Given the description of an element on the screen output the (x, y) to click on. 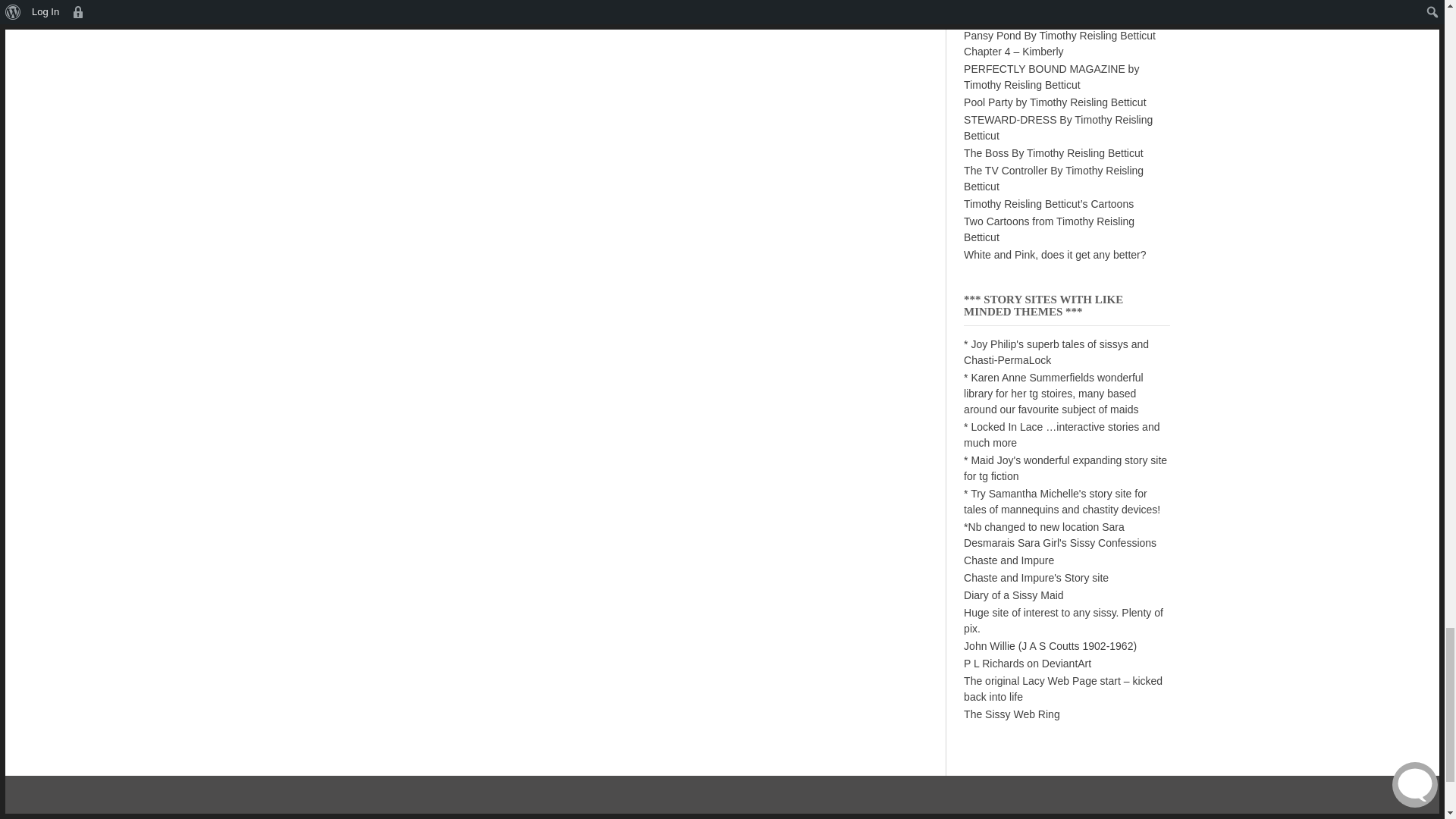
The amazing pictures and stories from John Willie (1050, 645)
a new site to host an established and gifted writer (1052, 393)
